Given the description of an element on the screen output the (x, y) to click on. 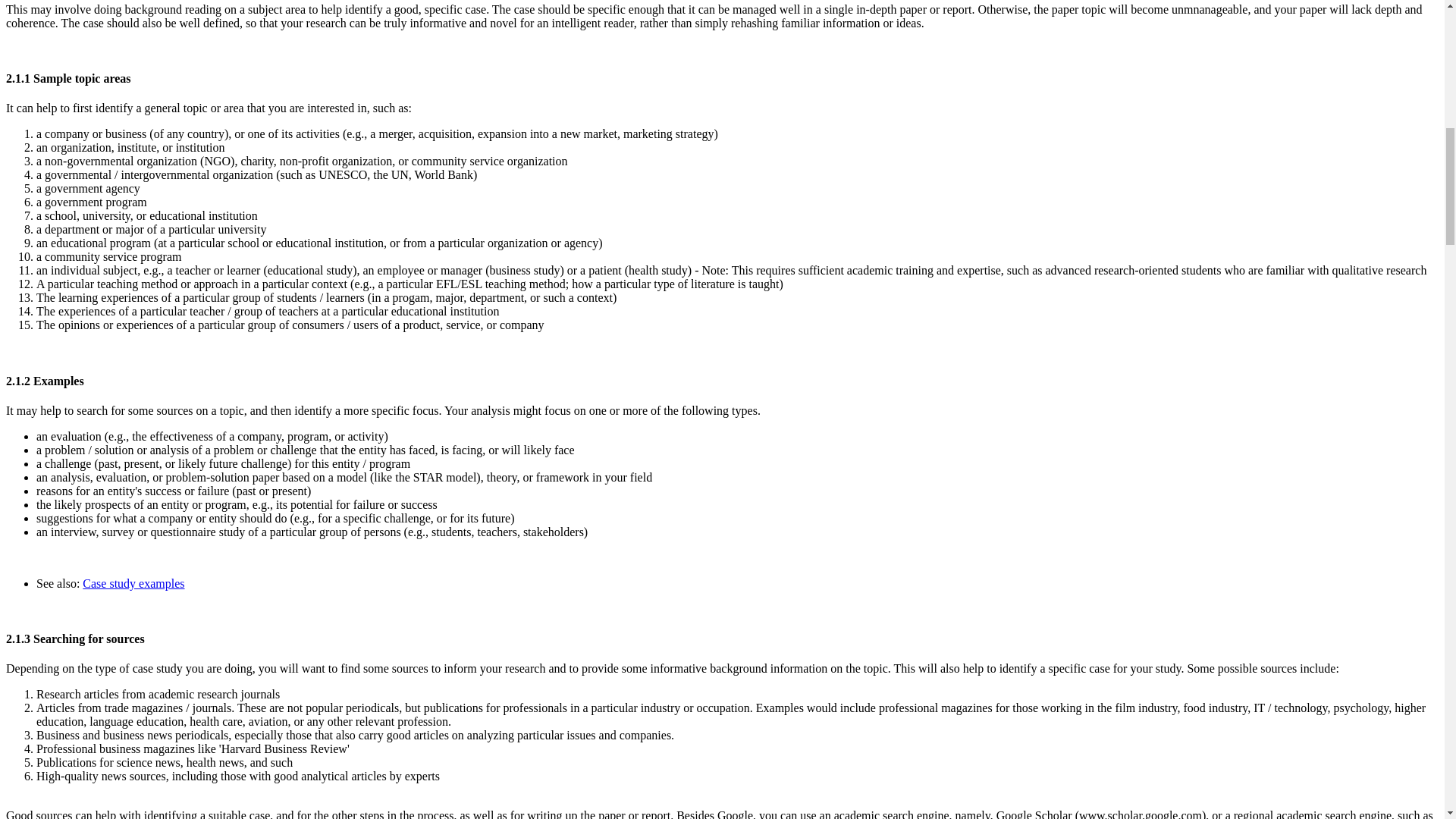
Case study examples (133, 583)
Case study examples (133, 583)
